Given the description of an element on the screen output the (x, y) to click on. 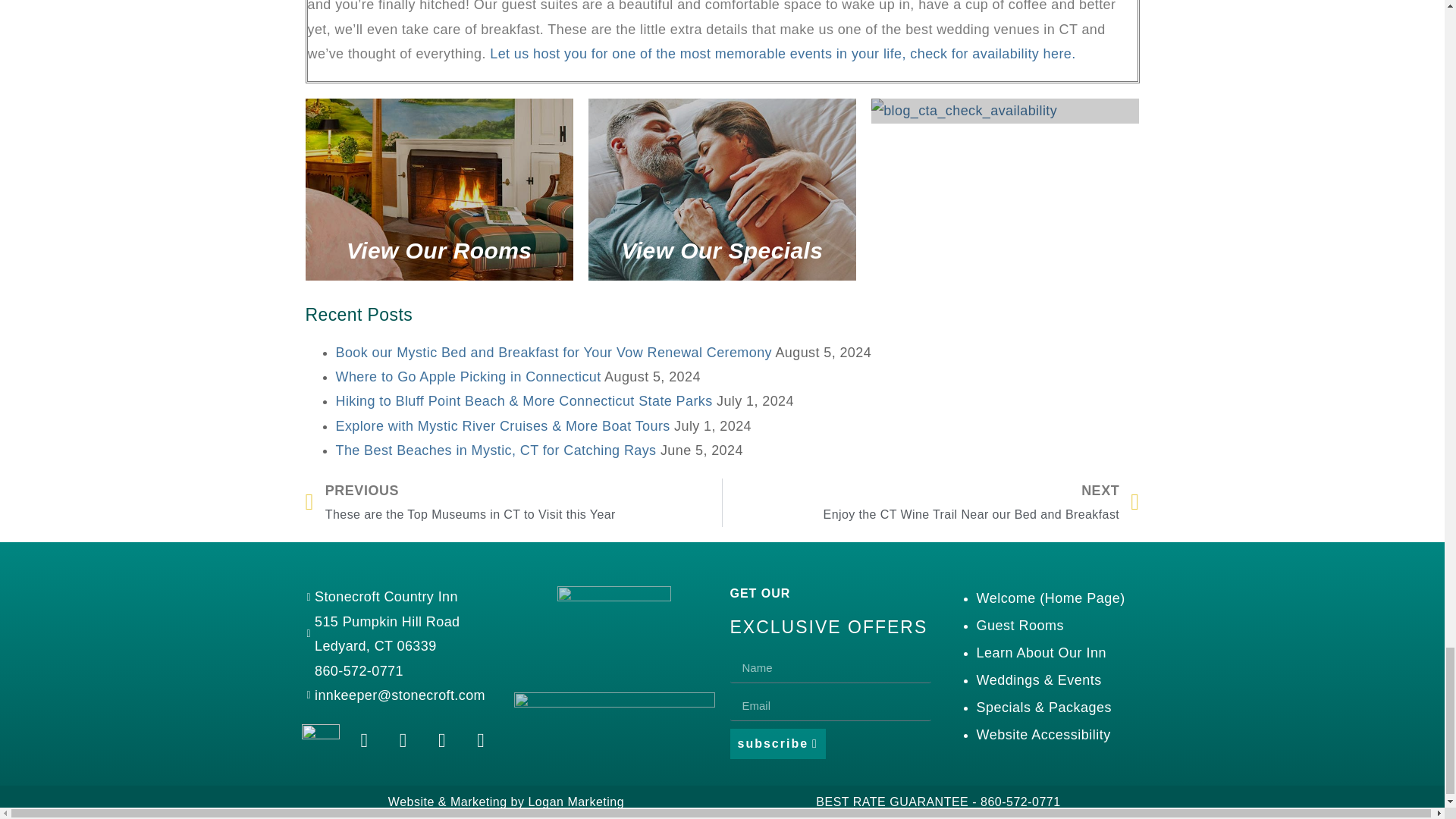
subscribe (777, 743)
860-572-0771 (397, 671)
Where to Go Apple Picking in Connecticut (466, 376)
Guest Rooms (1020, 625)
View Our Specials (931, 502)
View Our Rooms (722, 189)
